Given the description of an element on the screen output the (x, y) to click on. 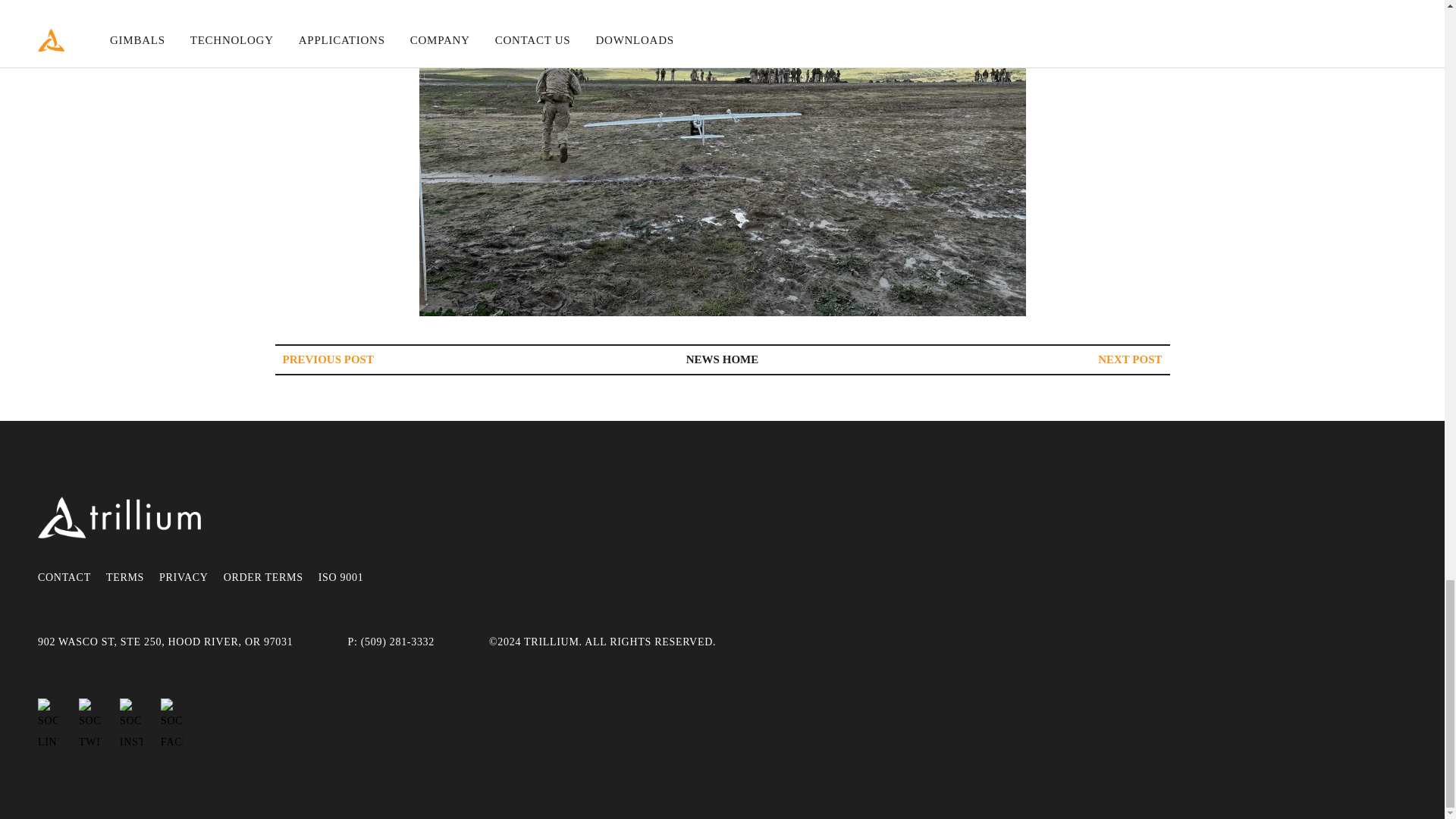
CONTACT (63, 577)
NEWS HOME (721, 359)
NEXT POST (1129, 359)
PREVIOUS POST (327, 359)
